Given the description of an element on the screen output the (x, y) to click on. 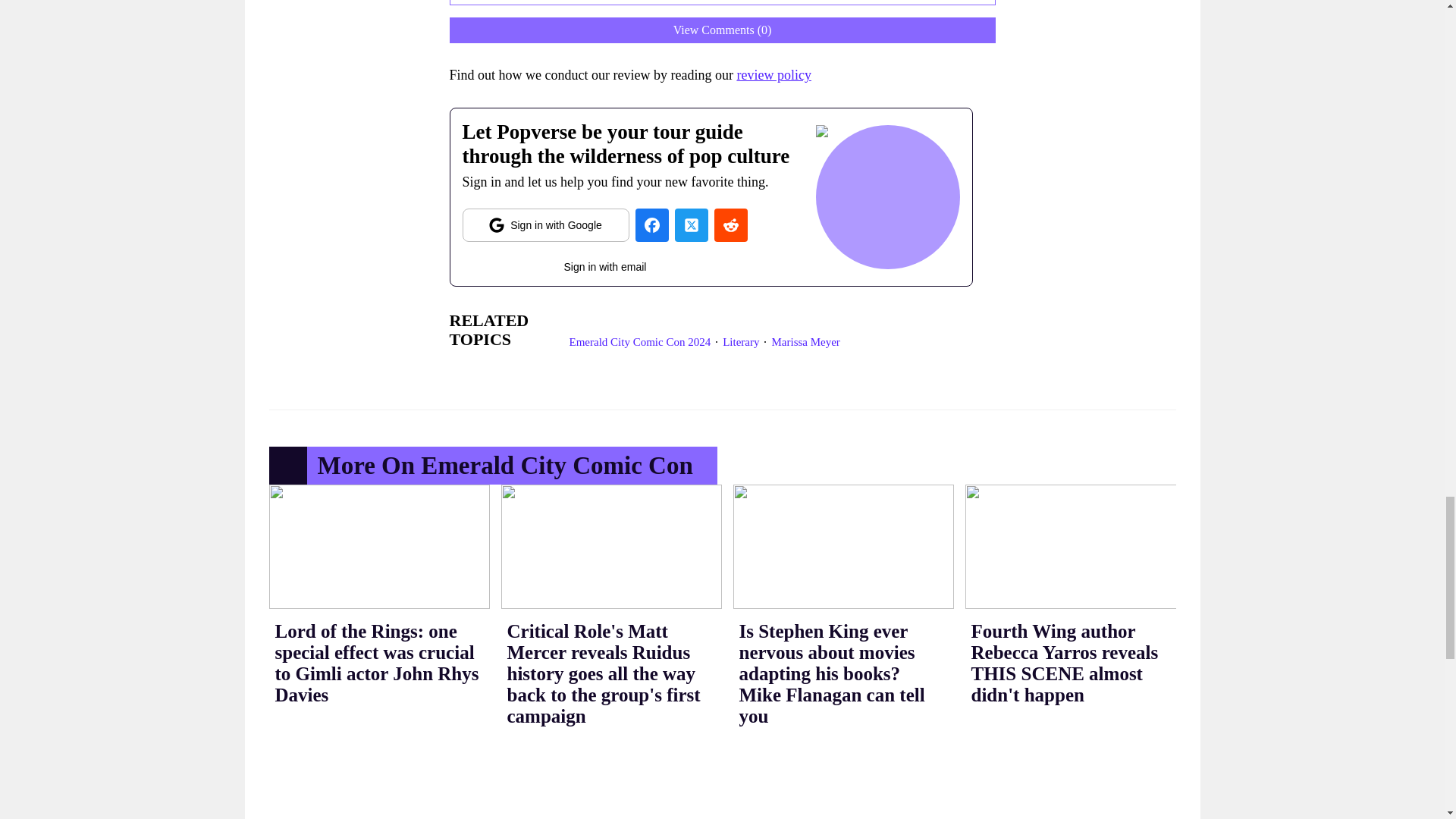
google (545, 224)
review policy (773, 74)
Sign in with Google (545, 224)
